Given the description of an element on the screen output the (x, y) to click on. 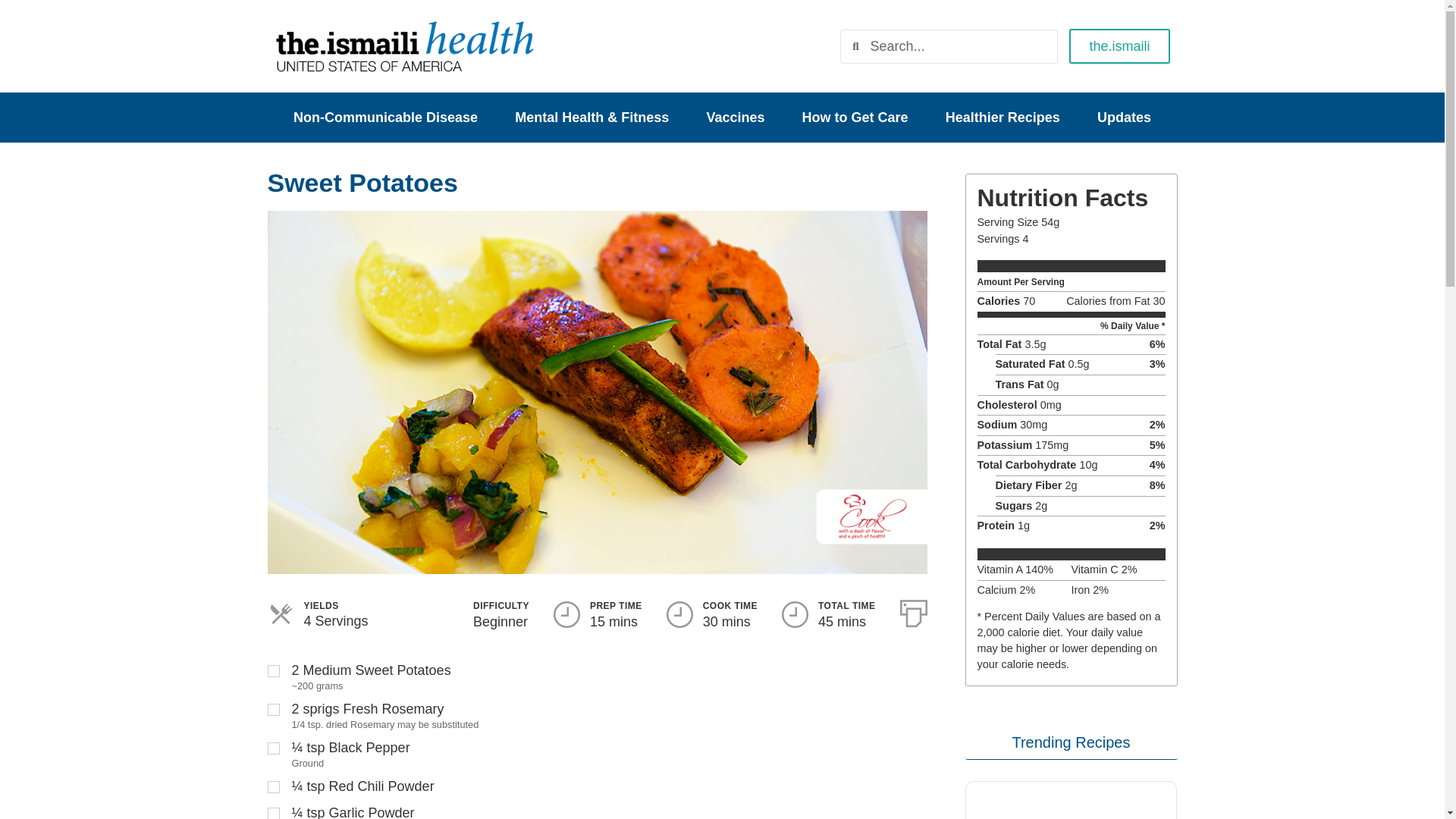
Non-Communicable Disease (385, 117)
Healthier Recipes (1002, 117)
How to Get Care (854, 117)
Vaccines (735, 117)
Updates (1123, 117)
the.ismaili (1118, 45)
